Given the description of an element on the screen output the (x, y) to click on. 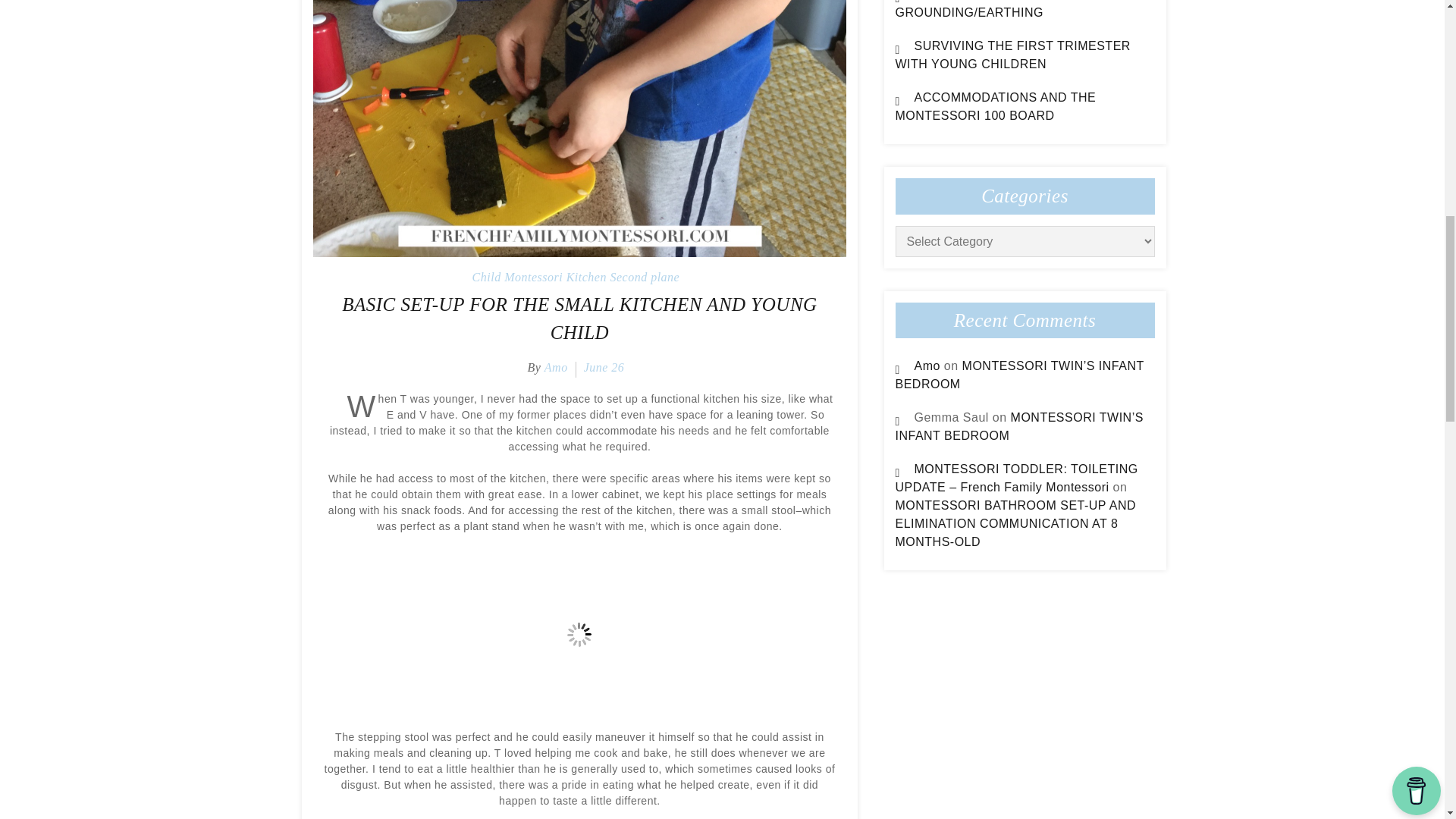
June 26 (603, 367)
SURVIVING THE FIRST TRIMESTER WITH YOUNG CHILDREN (1012, 54)
Montessori Kitchen (555, 277)
ACCOMMODATIONS AND THE MONTESSORI 100 BOARD (995, 106)
Child (485, 277)
BASIC SET-UP FOR THE SMALL KITCHEN AND YOUNG CHILD (579, 318)
Second plane (644, 277)
Amo (555, 367)
Amo (927, 365)
